Given the description of an element on the screen output the (x, y) to click on. 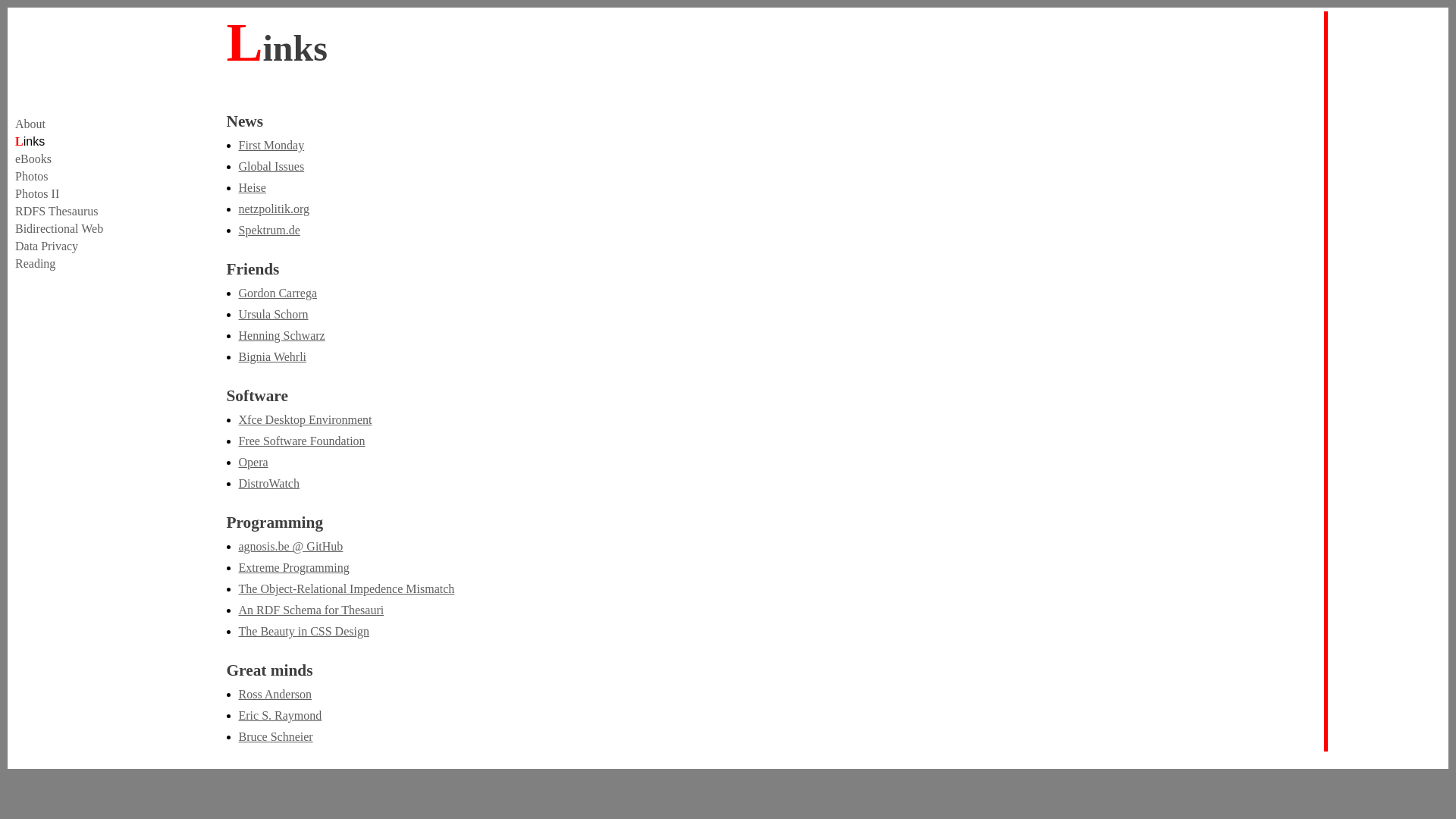
The Beauty in CSS Design Element type: text (303, 630)
Heise Element type: text (251, 187)
Spektrum.de Element type: text (268, 229)
Global Issues Element type: text (271, 166)
DistroWatch Element type: text (268, 482)
netzpolitik.org Element type: text (273, 208)
Data Privacy Element type: text (46, 245)
Bignia Wehrli Element type: text (272, 356)
An RDF Schema for Thesauri Element type: text (310, 609)
RDFS Thesaurus Element type: text (56, 210)
Free Software Foundation Element type: text (301, 440)
Henning Schwarz Element type: text (281, 335)
Gordon Carrega Element type: text (277, 292)
About Element type: text (30, 123)
Photos Element type: text (31, 175)
Ursula Schorn Element type: text (272, 313)
Extreme Programming Element type: text (293, 567)
Photos II Element type: text (37, 193)
agnosis.be @ GitHub Element type: text (290, 545)
eBooks Element type: text (33, 158)
Xfce Desktop Environment Element type: text (304, 419)
First Monday Element type: text (271, 144)
Opera Element type: text (252, 461)
Eric S. Raymond Element type: text (279, 715)
Reading Element type: text (35, 263)
Bruce Schneier Element type: text (275, 736)
The Object-Relational Impedence Mismatch Element type: text (346, 588)
Bidirectional Web Element type: text (59, 228)
Ross Anderson Element type: text (274, 693)
